Given the description of an element on the screen output the (x, y) to click on. 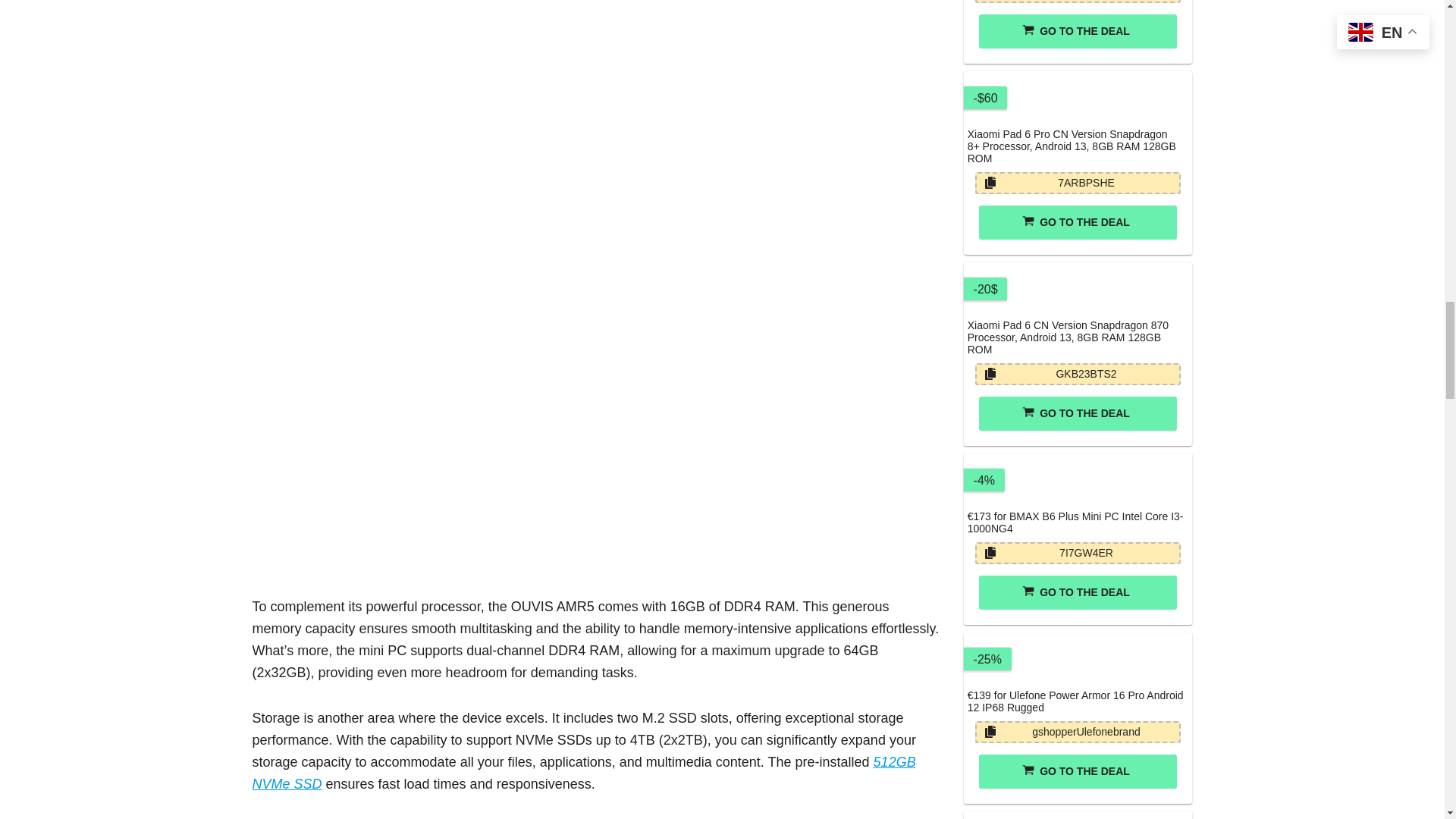
512GB NVMe SSD (583, 772)
